Given the description of an element on the screen output the (x, y) to click on. 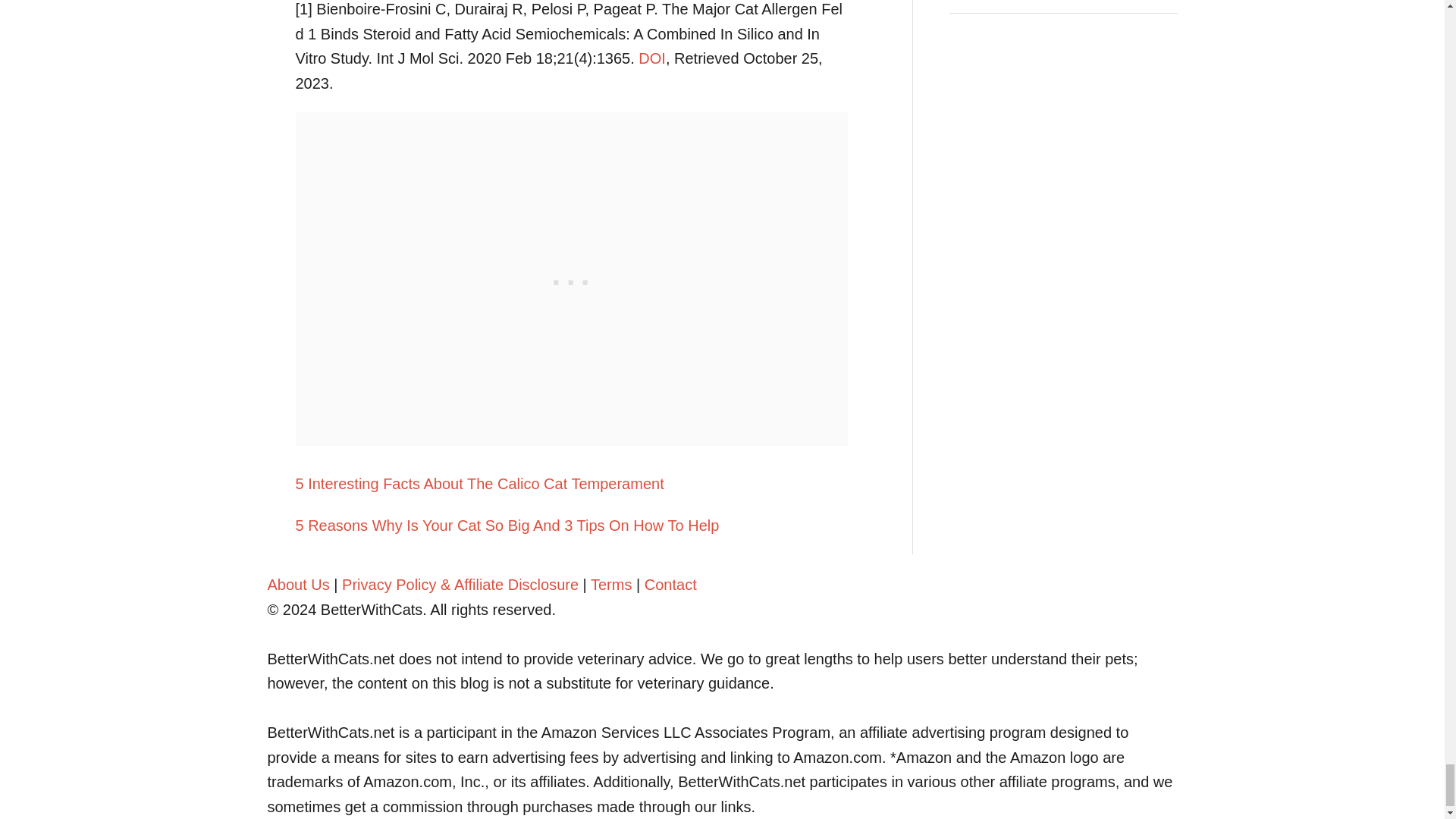
5 Interesting Facts About The Calico Cat Temperament (571, 483)
Terms (611, 584)
Contact (671, 584)
5 Reasons Why Is Your Cat So Big And 3 Tips On How To Help (571, 525)
About Us (297, 584)
DOI (652, 57)
